Given the description of an element on the screen output the (x, y) to click on. 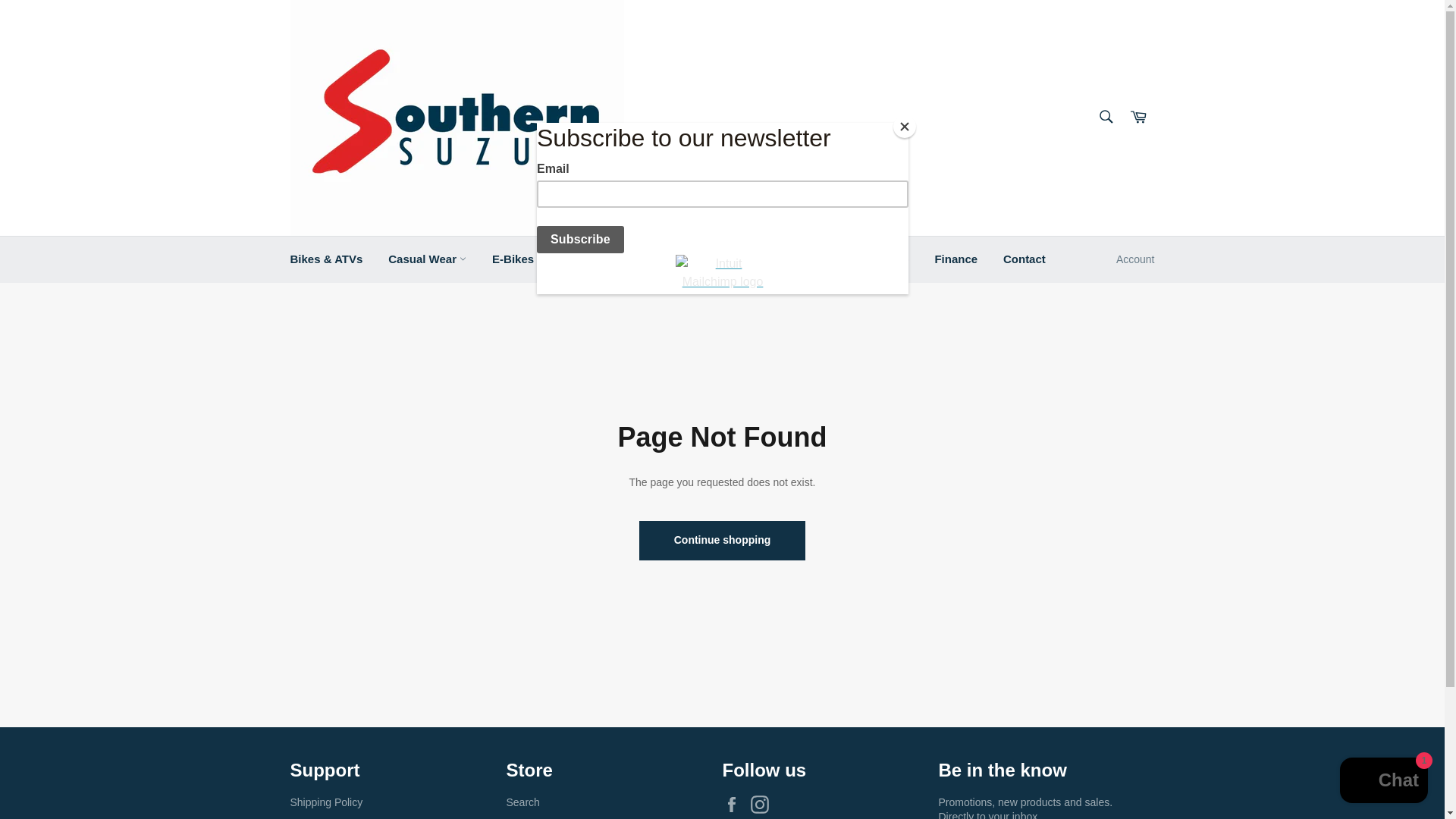
Southern Suzuki on Facebook (735, 804)
Southern Suzuki on Instagram (763, 804)
Shopify online store chat (1383, 781)
